Given the description of an element on the screen output the (x, y) to click on. 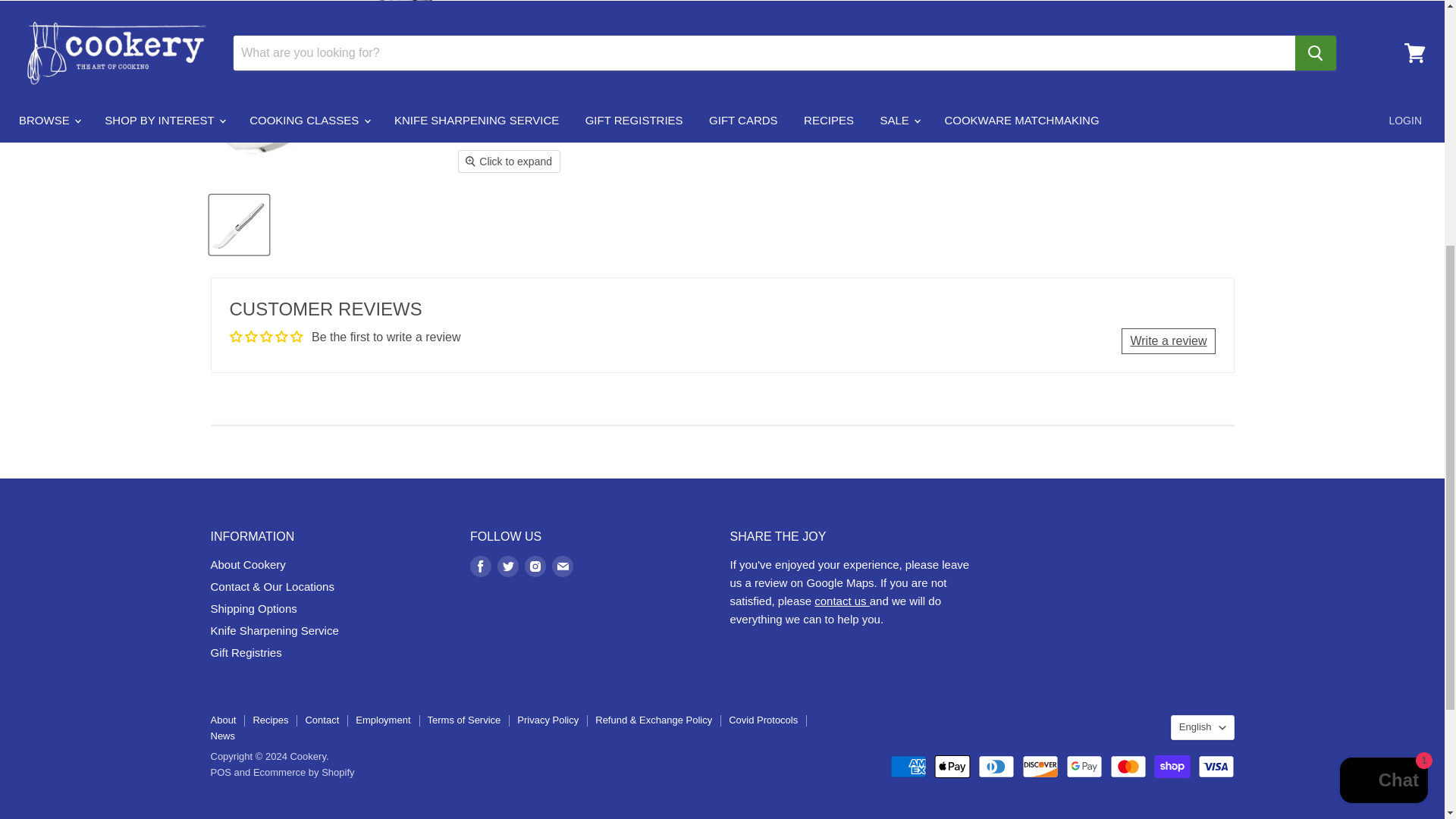
Add to Registry (1121, 12)
Twitter (507, 566)
Instagram (535, 566)
Facebook (481, 566)
E-mail (562, 566)
American Express (907, 766)
